Given the description of an element on the screen output the (x, y) to click on. 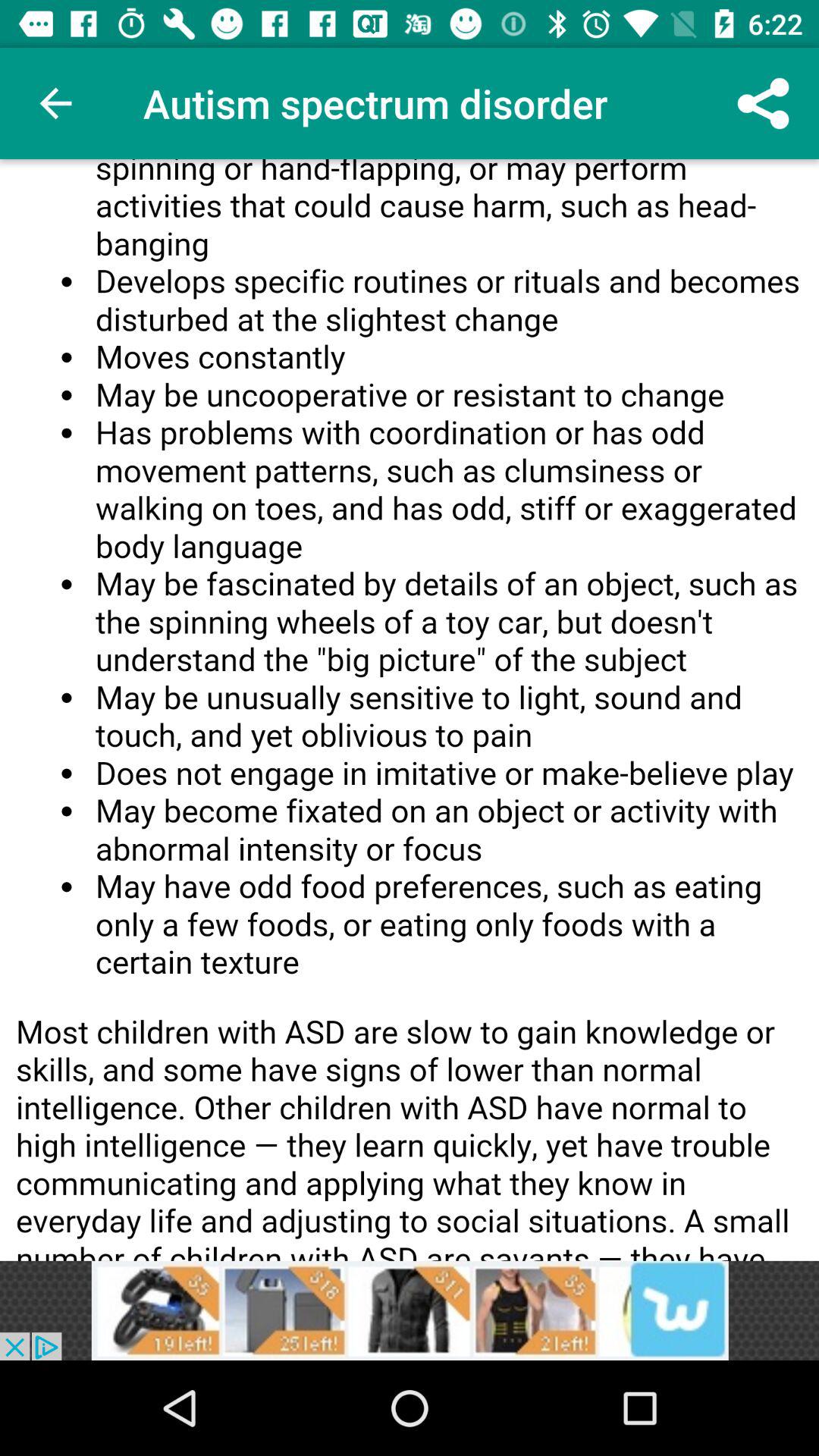
the button is used to advertisement option (409, 1310)
